Given the description of an element on the screen output the (x, y) to click on. 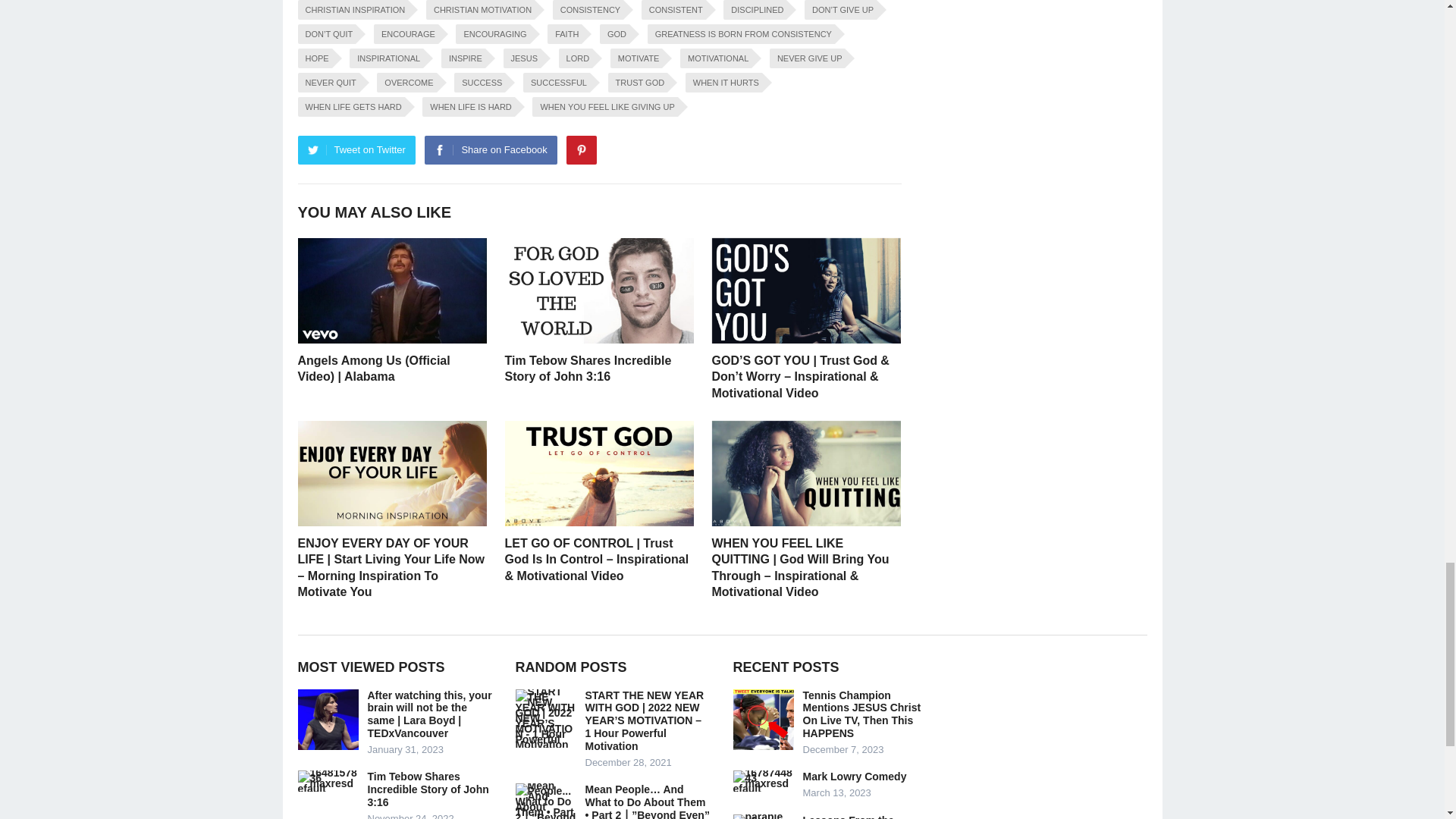
Tim Tebow Shares Incredible Story of John 3:16 4 (599, 290)
